Given the description of an element on the screen output the (x, y) to click on. 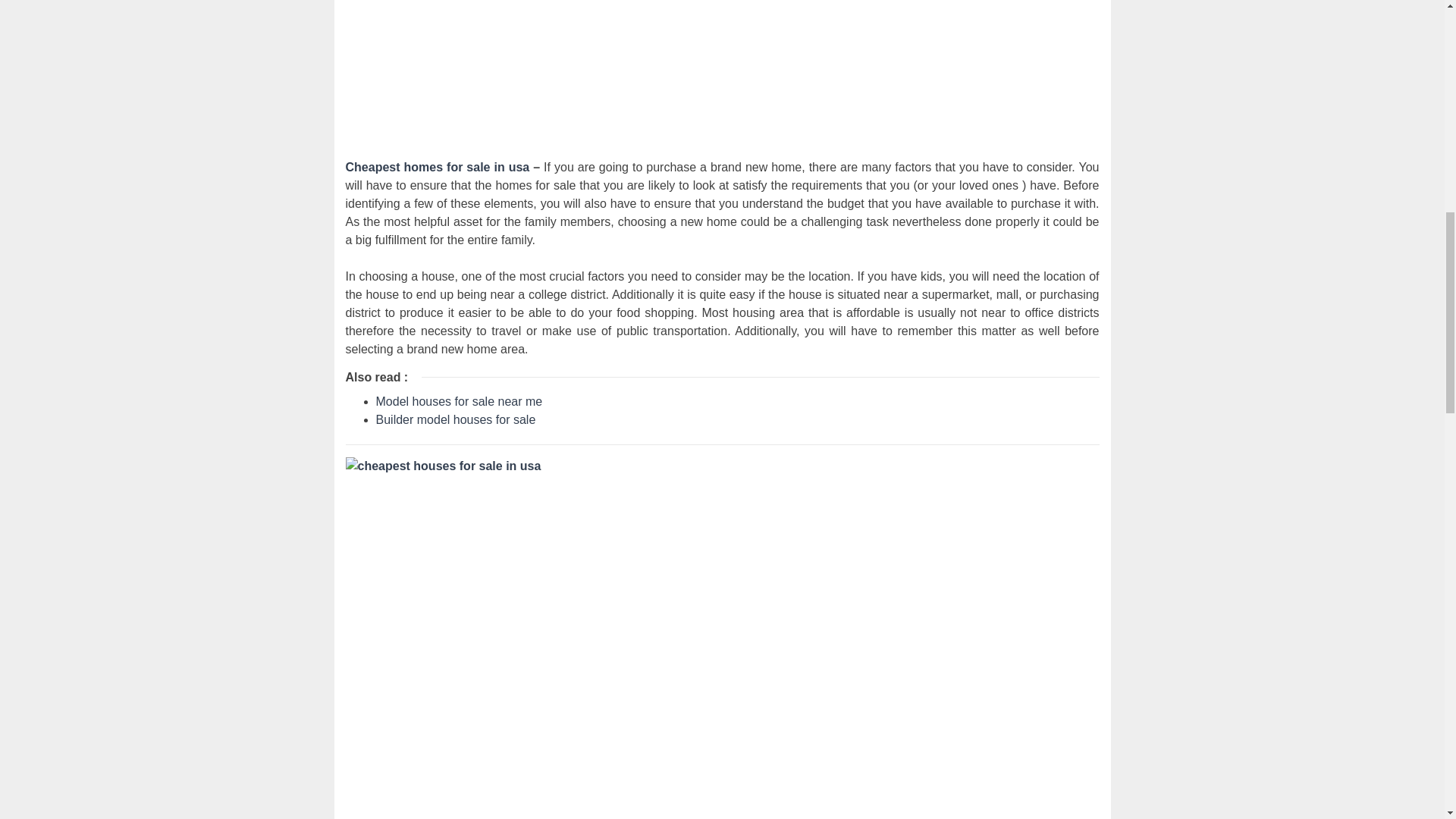
Builder model houses for sale (455, 419)
Cheapest homes for sale in usa (437, 166)
Model houses for sale near me (459, 400)
